Given the description of an element on the screen output the (x, y) to click on. 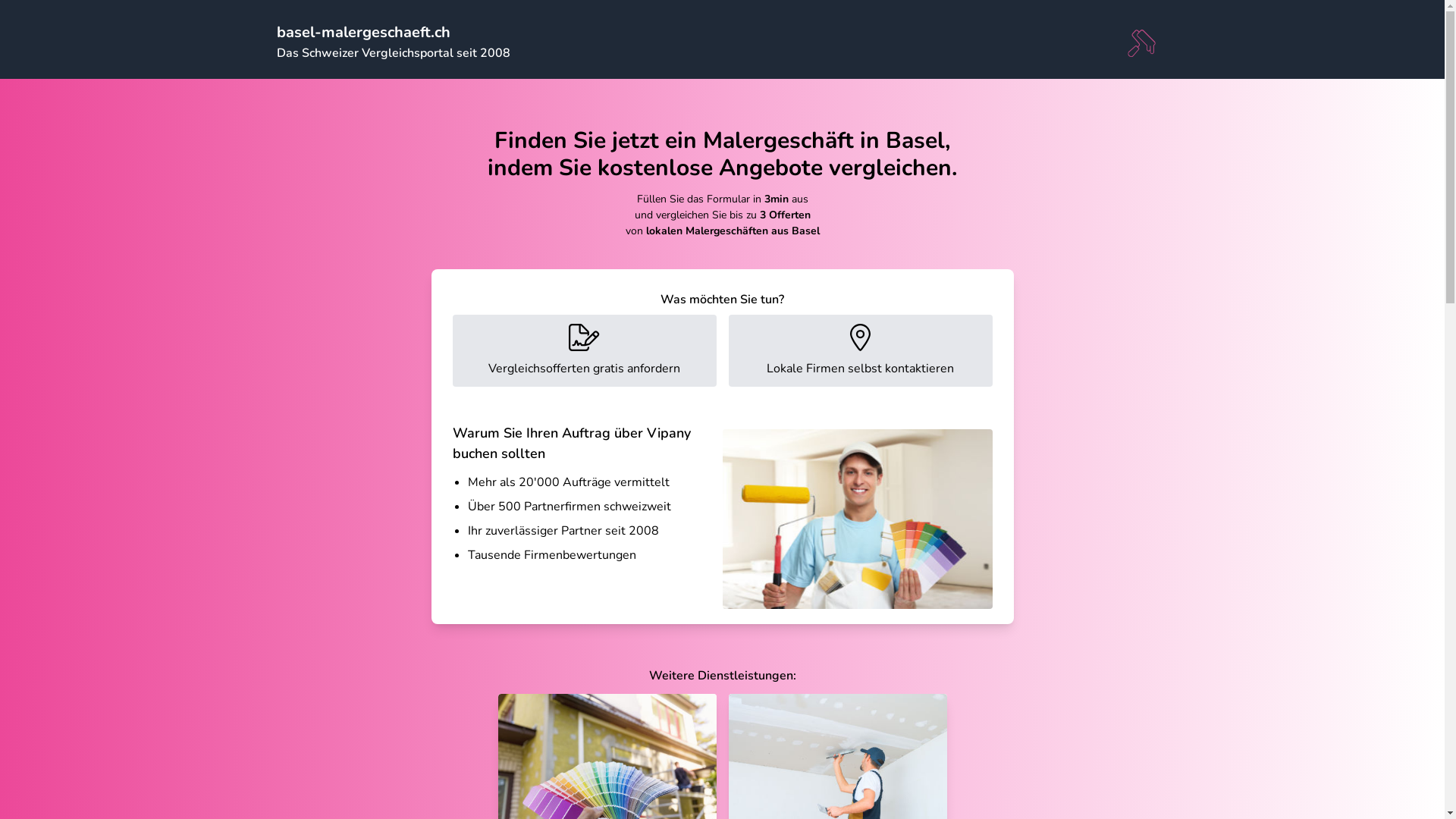
basel-malergeschaeft.ch Element type: text (362, 31)
